Given the description of an element on the screen output the (x, y) to click on. 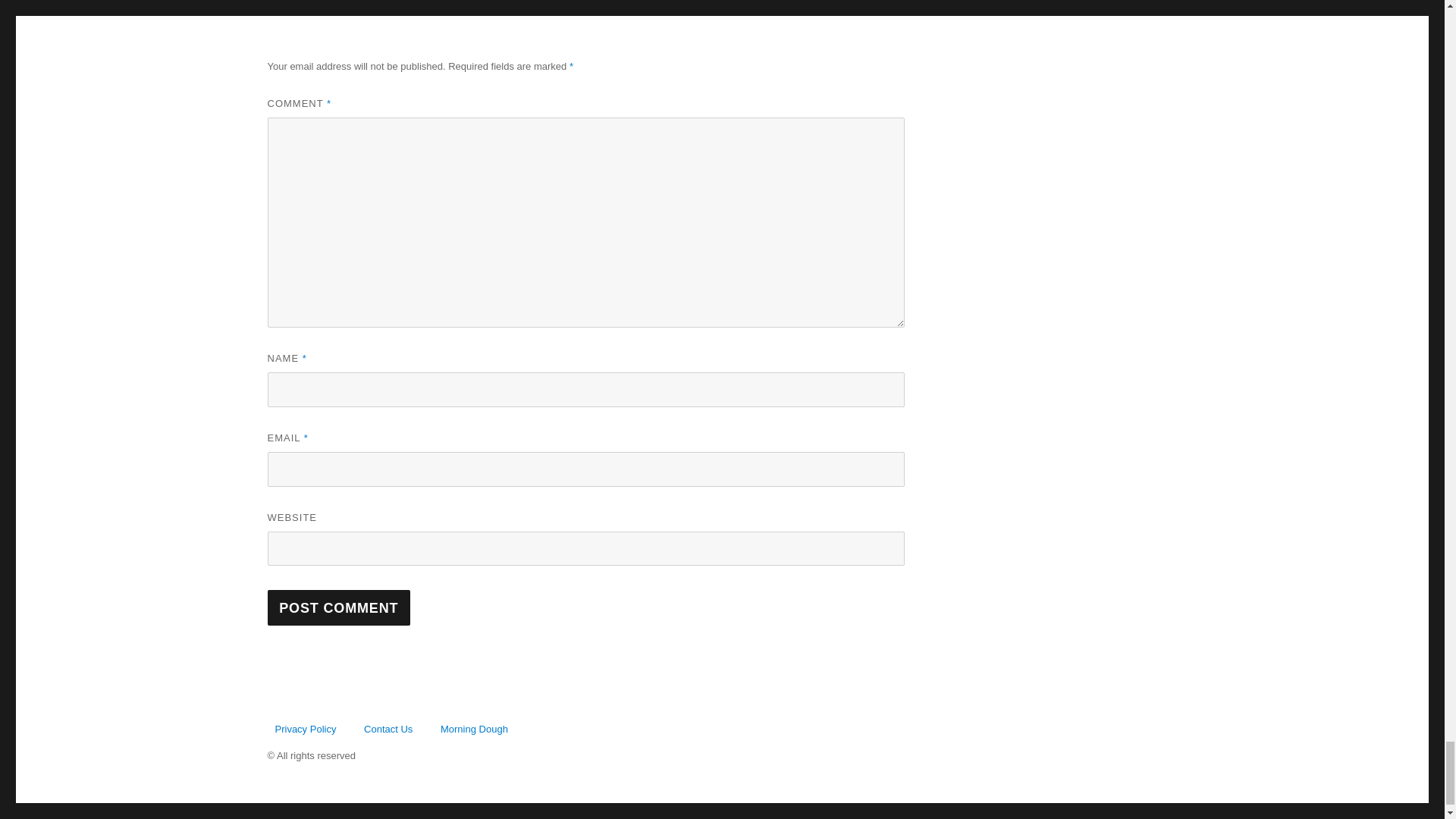
Post Comment (338, 607)
Post Comment (338, 607)
